Given the description of an element on the screen output the (x, y) to click on. 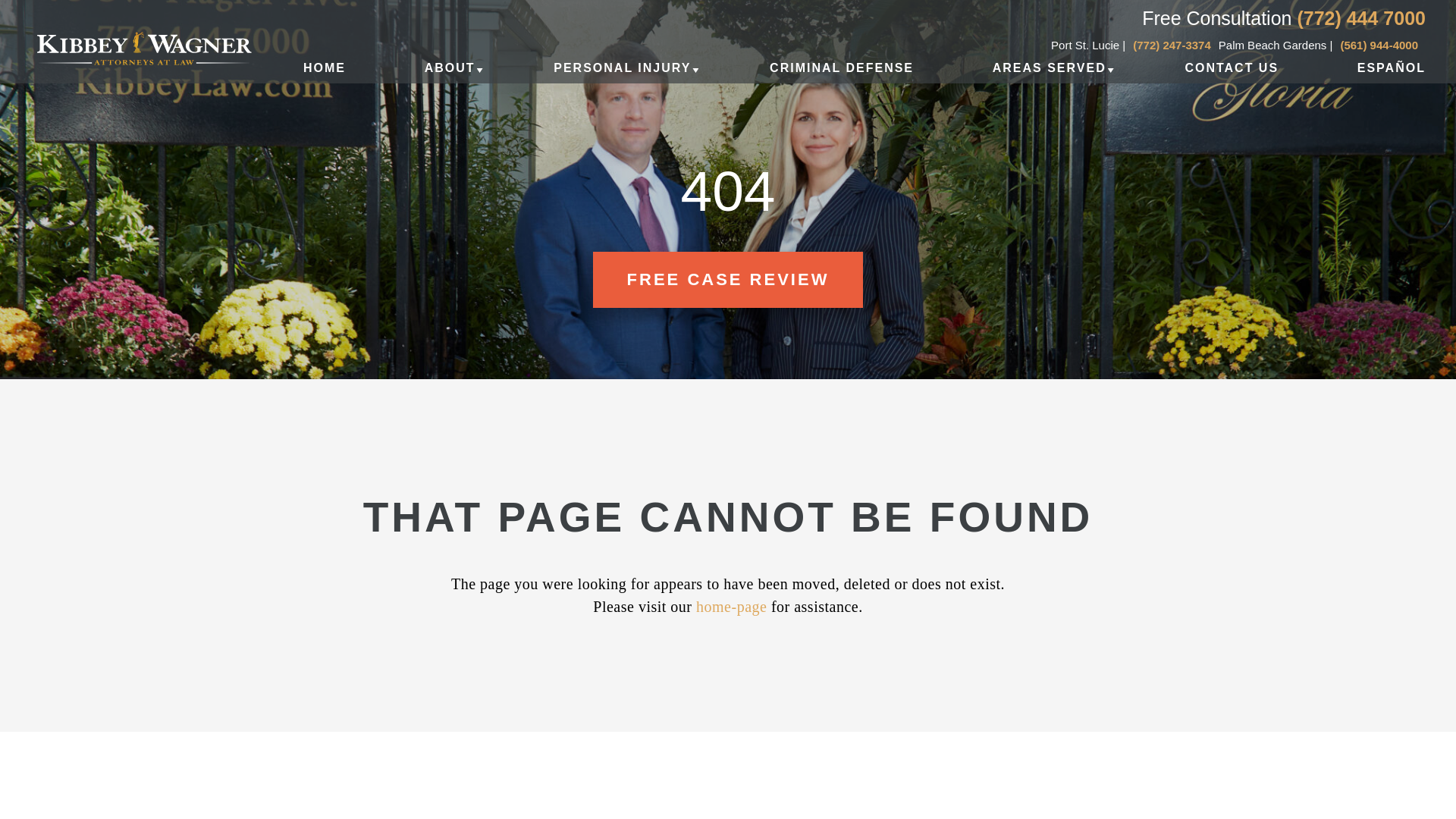
FREE CASE REVIEW (727, 279)
CONTACT US (1231, 77)
PERSONAL INJURY (621, 77)
AREAS SERVED (1049, 77)
CRIMINAL DEFENSE (842, 77)
home-page (731, 606)
HOME (324, 77)
FREE CASE REVIEW (727, 279)
ABOUT (450, 77)
